Given the description of an element on the screen output the (x, y) to click on. 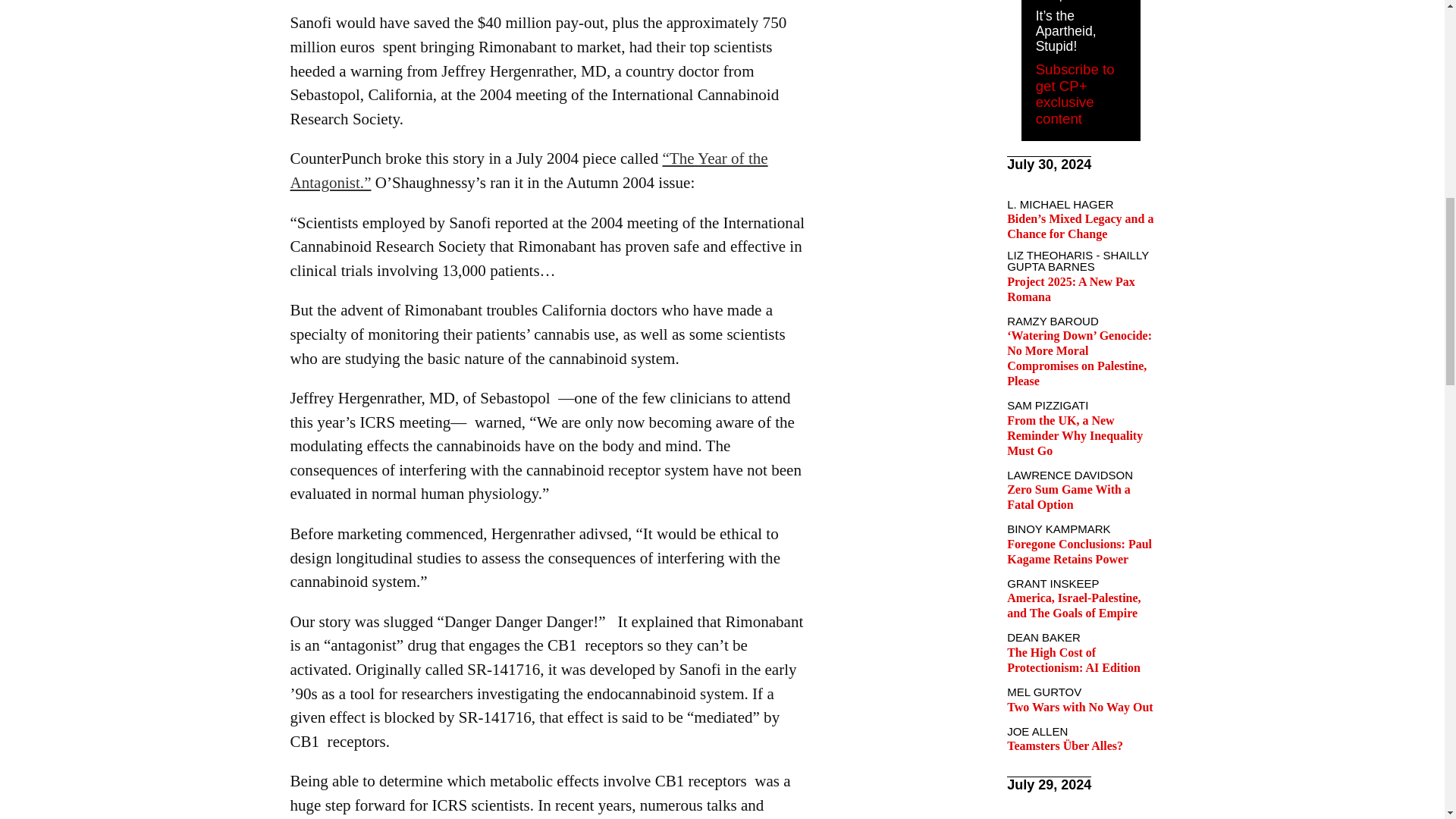
The US-Israeli Regime of Despair (1078, 1)
